Given the description of an element on the screen output the (x, y) to click on. 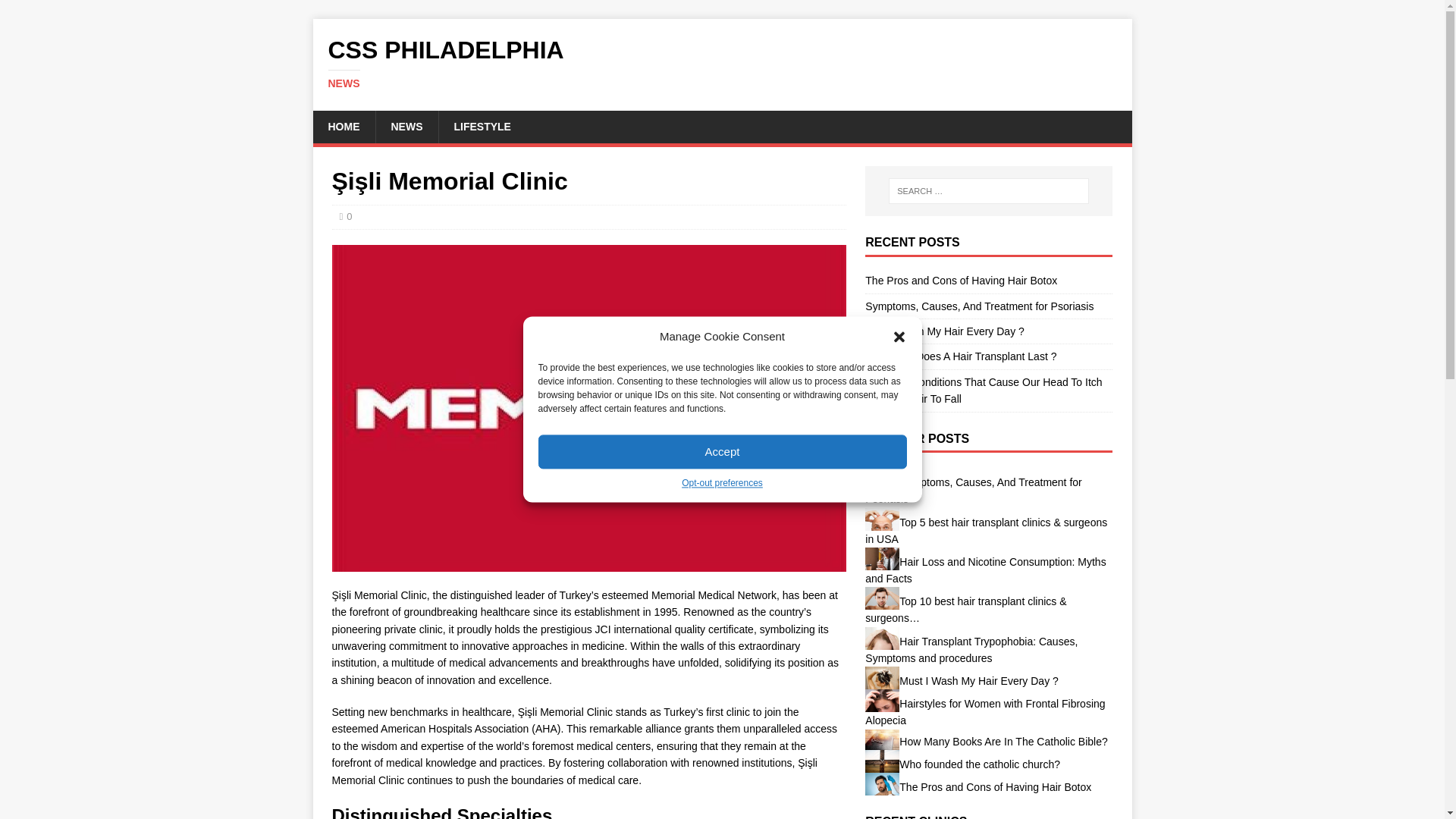
CSS Philadelphia (721, 63)
The Pros and Cons of Having Hair Botox (960, 280)
Must I Wash My Hair Every Day ? (881, 677)
Hair Transplant Trypophobia: Causes, Symptoms and procedures (881, 638)
0 (349, 215)
The Pros and Cons of Having Hair Botox (881, 784)
Must I Wash My Hair Every Day ? (944, 331)
How Long Does A Hair Transplant Last ? (960, 356)
Hair Loss and Nicotine Consumption: Myths and Facts (984, 570)
How Many Books Are In The Catholic Bible? (881, 739)
Hair Loss and Nicotine Consumption: Myths and Facts (881, 558)
0 (349, 215)
NEWS (406, 126)
Symptoms, Causes, And Treatment for Psoriasis (972, 490)
